Given the description of an element on the screen output the (x, y) to click on. 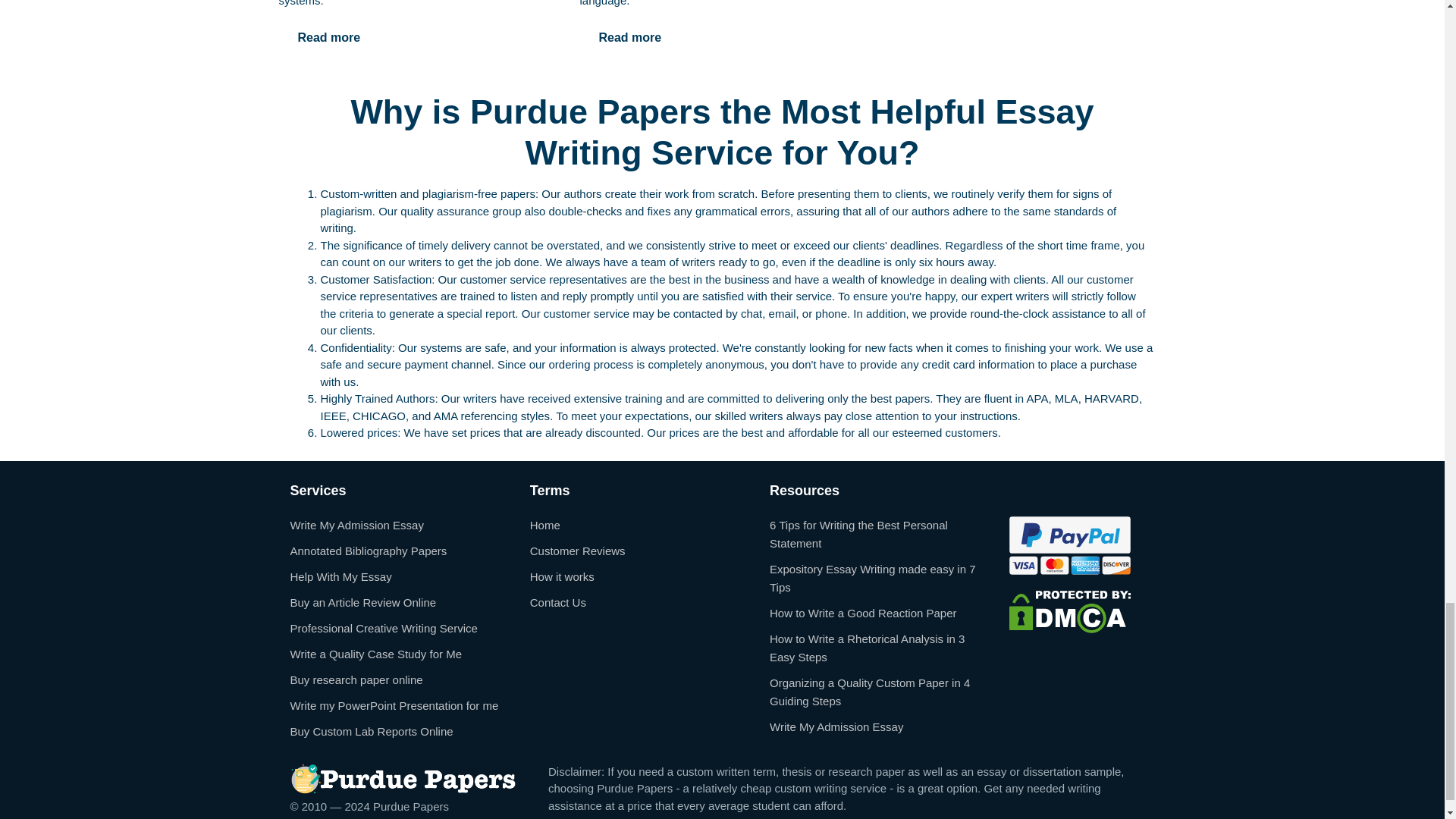
Read more (629, 38)
Annotated Bibliography Papers (367, 550)
Buy an Article Review Online (362, 602)
Help With My Essay (340, 576)
DMCA (1070, 610)
Read more (329, 38)
Write My Admission Essay (356, 524)
